Given the description of an element on the screen output the (x, y) to click on. 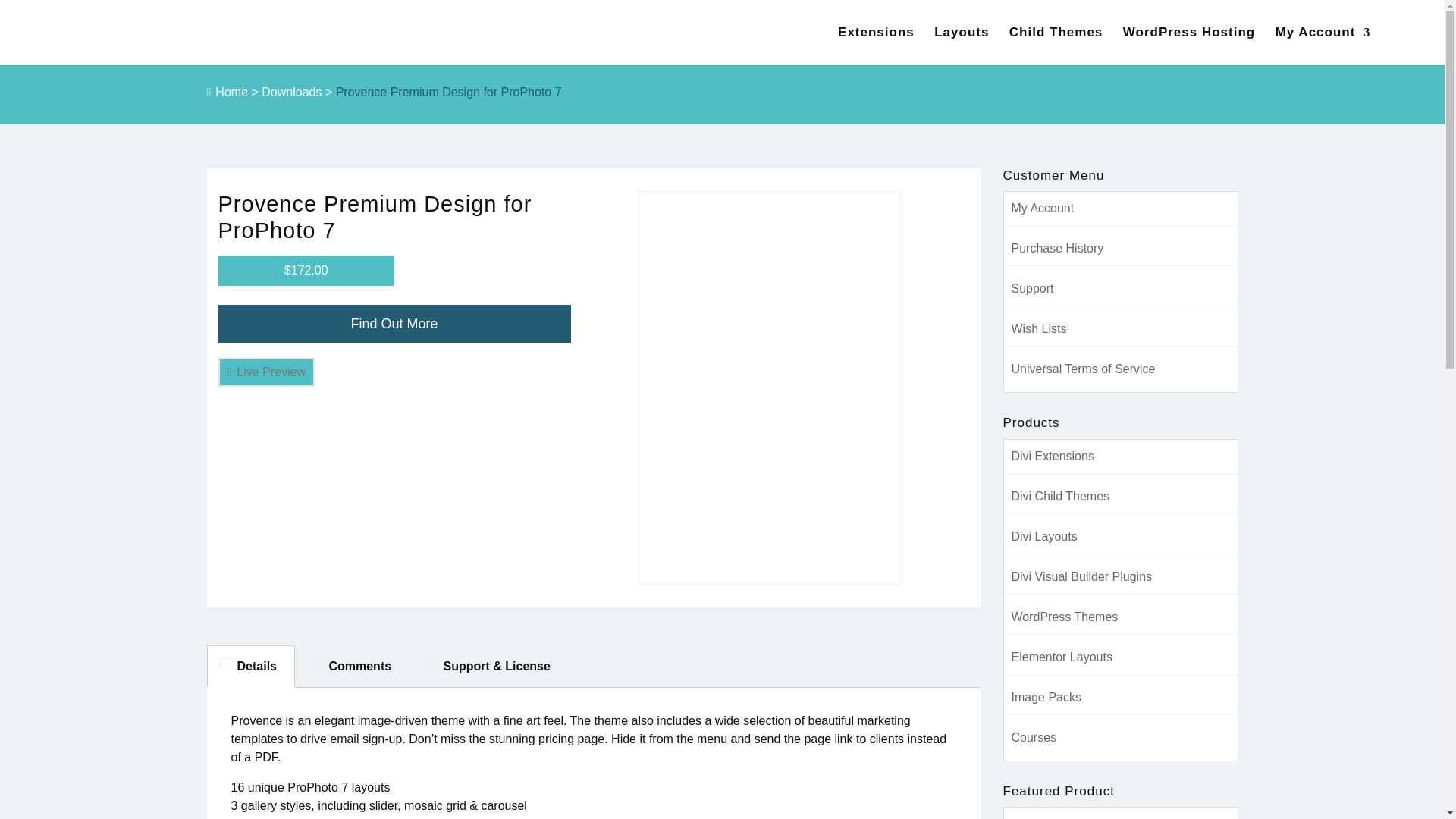
Downloads (291, 91)
WordPress Hosting (1188, 46)
Home (231, 91)
Divi Themes, Elementor Themes and Layouts  (1055, 46)
Go to Elegant Marketplace. (231, 91)
Wish Lists (1039, 328)
Live Preview (266, 371)
Image Packs (1046, 697)
Courses (1034, 737)
Find Out More (394, 323)
Divi Layouts (1044, 535)
WordPress Hosting, Coding, Whatever you need is all here (1188, 46)
Ultimate Divi Portfolio Module Section Bundle (1041, 816)
Child Themes (1055, 46)
Support (1032, 287)
